Given the description of an element on the screen output the (x, y) to click on. 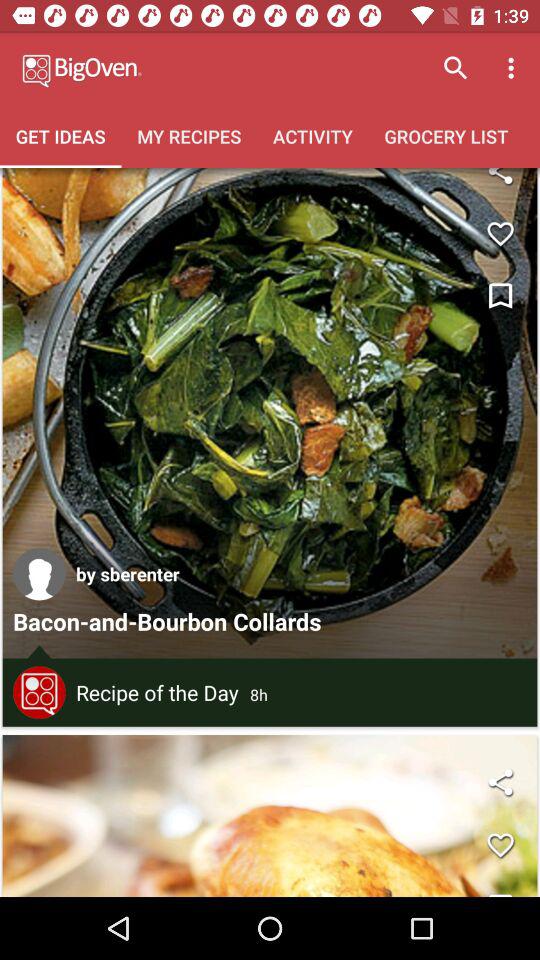
image page (269, 816)
